Given the description of an element on the screen output the (x, y) to click on. 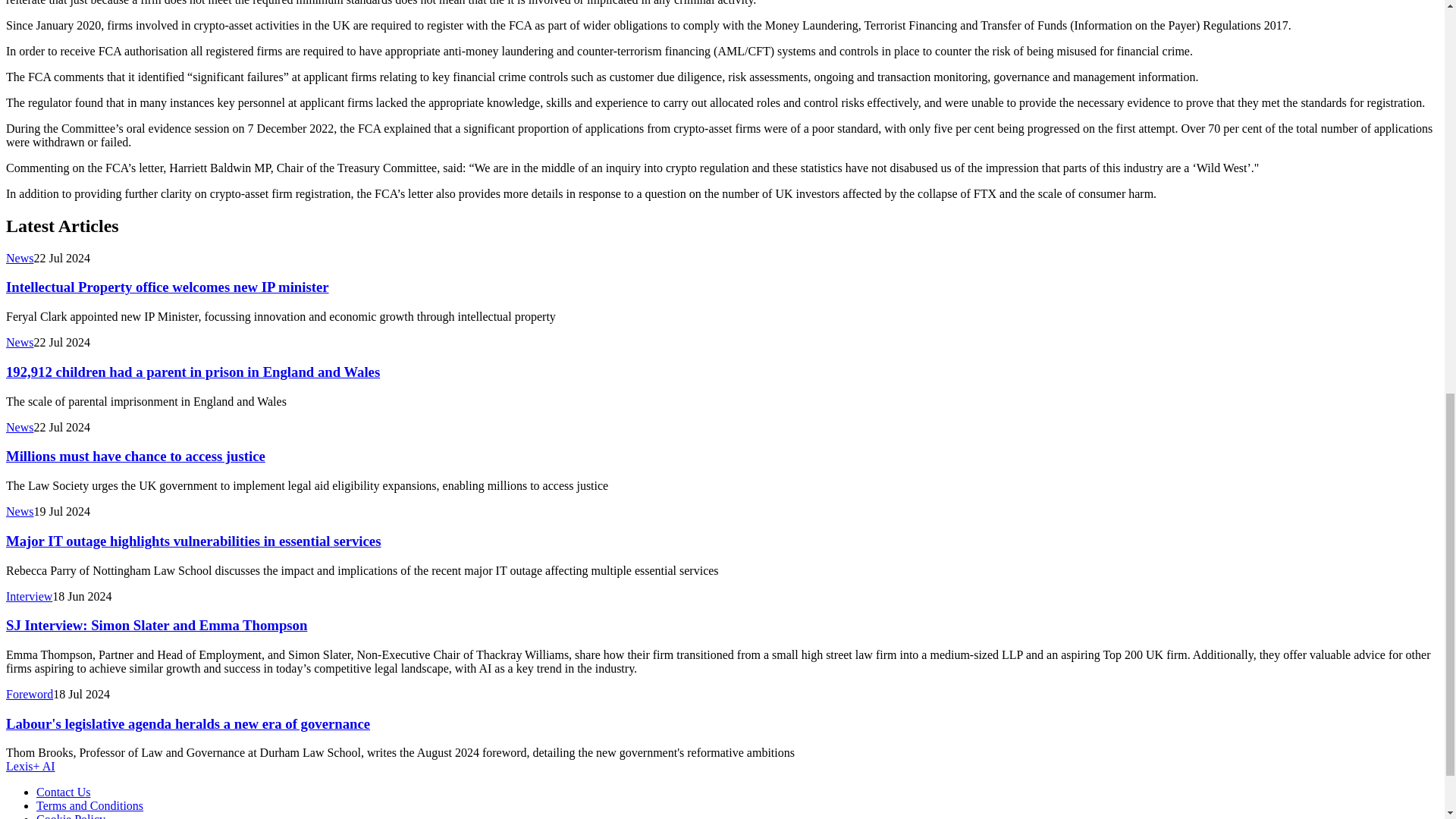
News (19, 341)
News (19, 257)
Intellectual Property office welcomes new IP minister (167, 286)
